Given the description of an element on the screen output the (x, y) to click on. 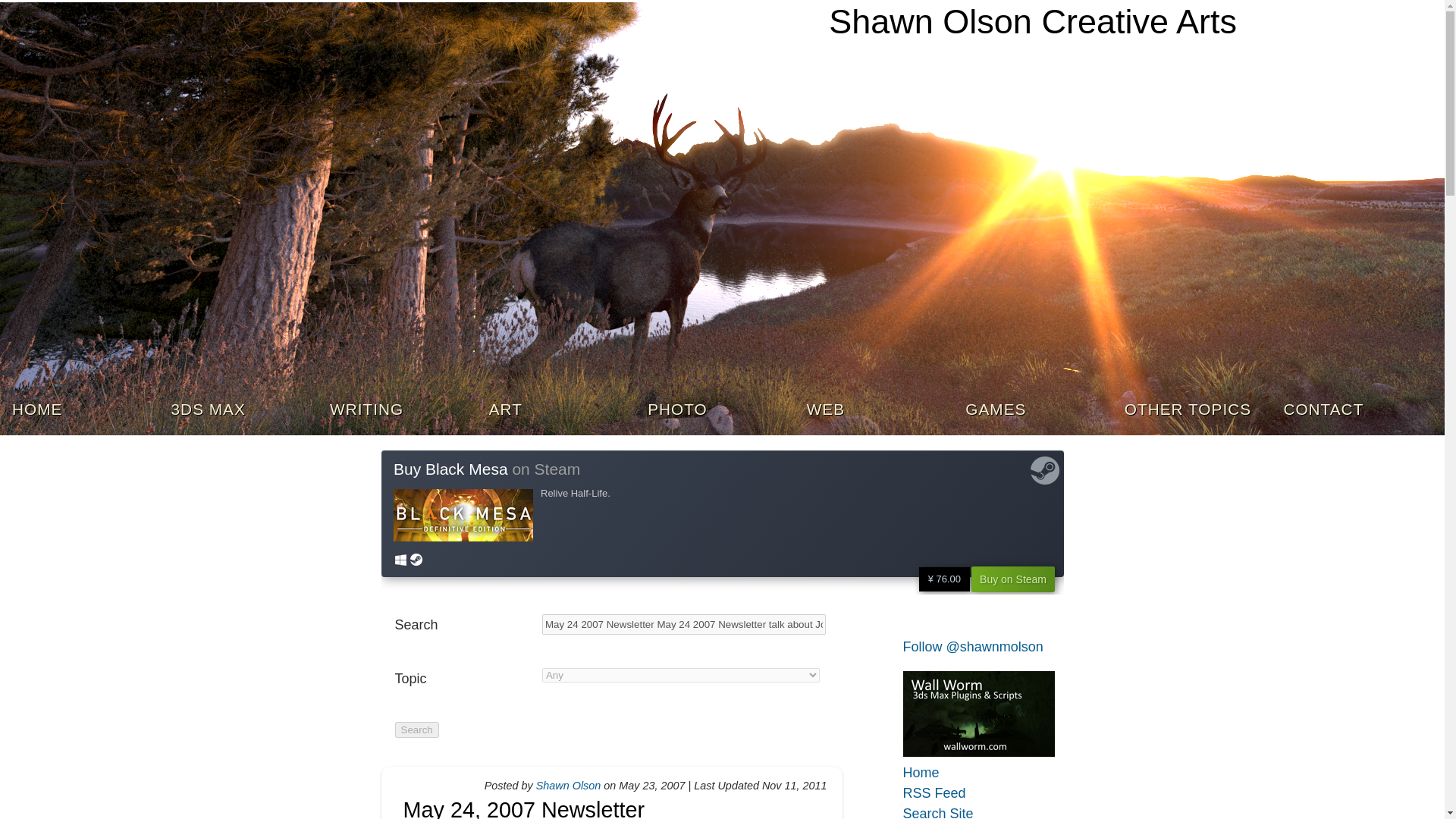
Search (416, 729)
Shawn Olson (568, 785)
Max 255 Characters (463, 624)
Search (416, 729)
May 24, 2007 Newsletter (524, 808)
Max 255 Characters (683, 624)
